Given the description of an element on the screen output the (x, y) to click on. 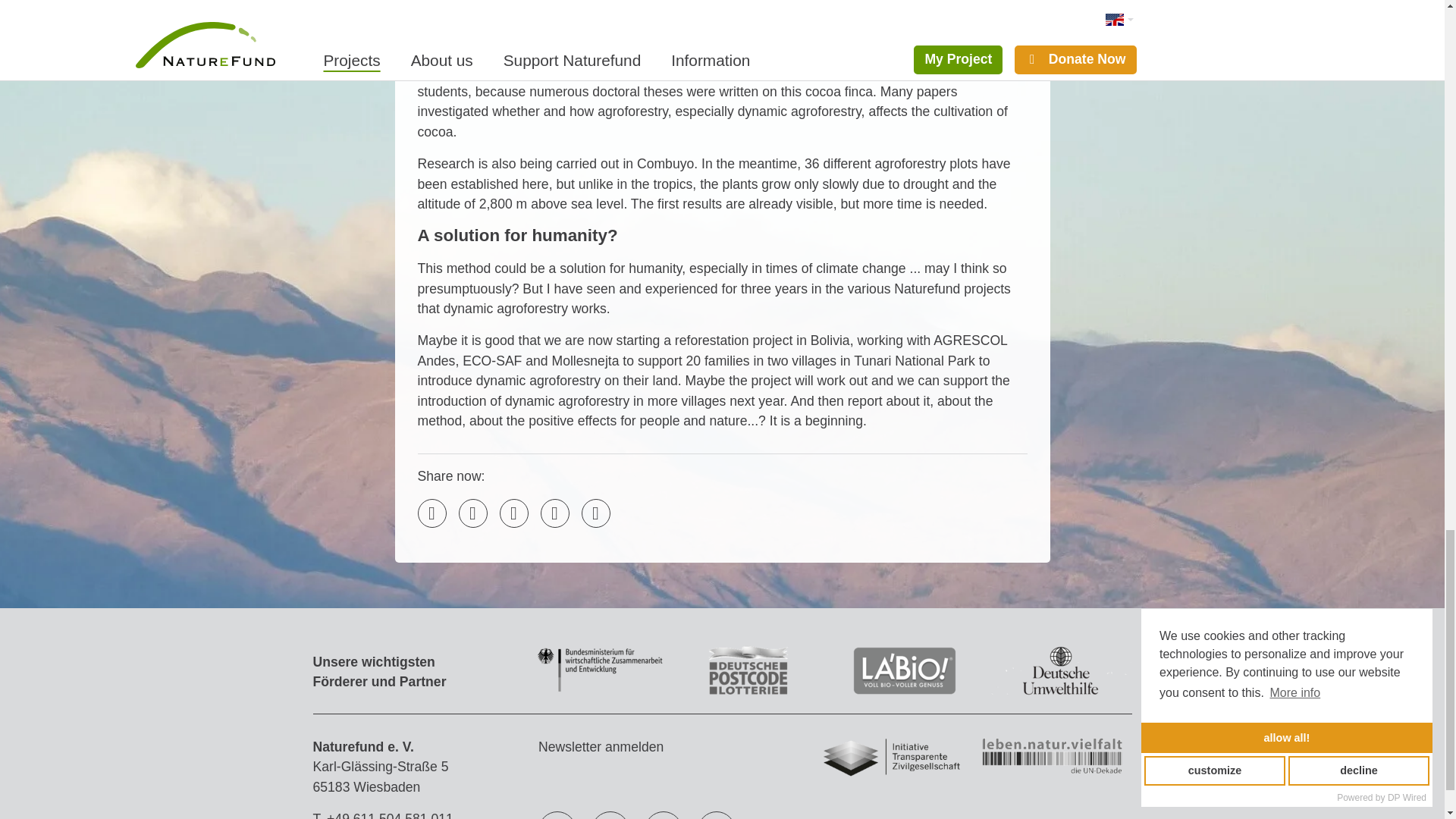
Instragram (663, 817)
Facebook (472, 512)
WhatsApp (595, 512)
Facebook (557, 817)
LinkedIn (513, 512)
Email (430, 512)
Telegram (554, 512)
Deutsche Umwelthilfe (1060, 691)
YouTube (609, 817)
